Given the description of an element on the screen output the (x, y) to click on. 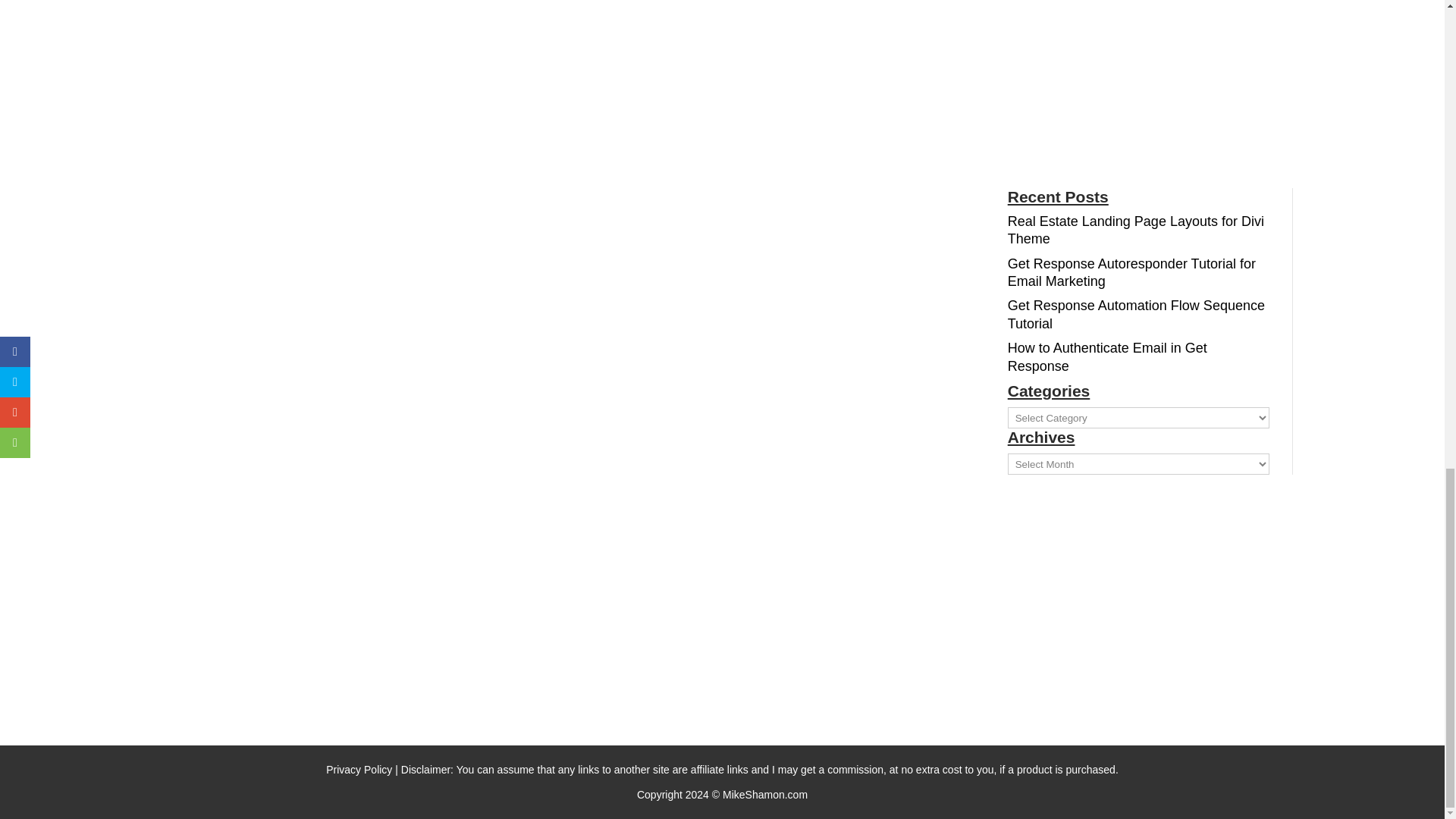
Privacy Policy (358, 769)
Real Estate Landing Page Layouts for Divi Theme (1135, 229)
Get Response Autoresponder Tutorial for Email Marketing (1131, 272)
Get Response Automation Flow Sequence Tutorial (1136, 314)
How to Authenticate Email in Get Response (1107, 356)
